Given the description of an element on the screen output the (x, y) to click on. 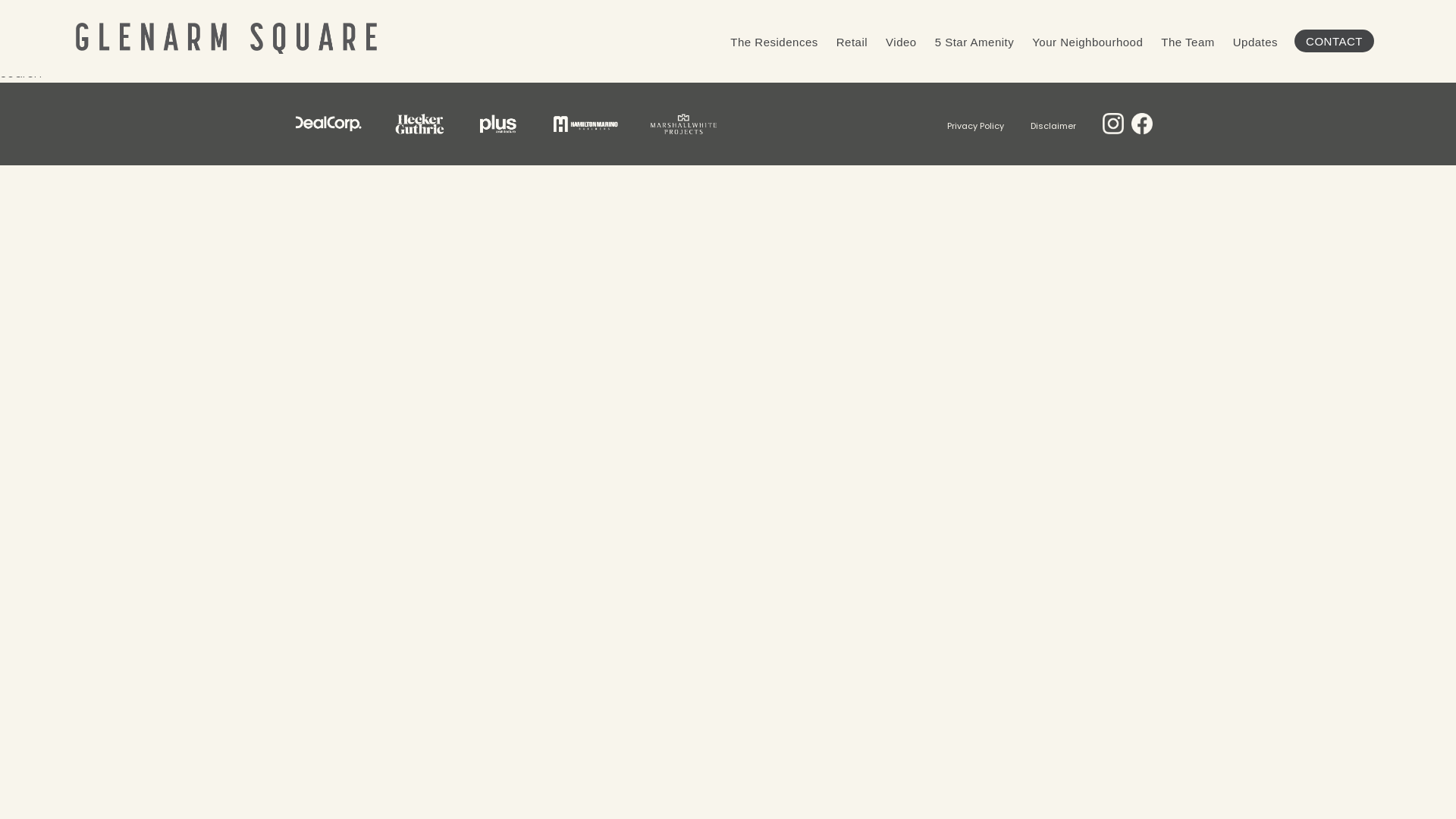
The Team Element type: text (1187, 42)
Retail Element type: text (851, 42)
The Residences Element type: text (773, 42)
Privacy Policy Element type: text (975, 125)
5 Star Amenity Element type: text (974, 42)
Updates Element type: text (1255, 42)
Your Neighbourhood Element type: text (1087, 42)
Disclaimer Element type: text (1053, 125)
Video Element type: text (901, 42)
Search Element type: text (20, 73)
CONTACT Element type: text (1334, 40)
Home Element type: hover (225, 30)
